Given the description of an element on the screen output the (x, y) to click on. 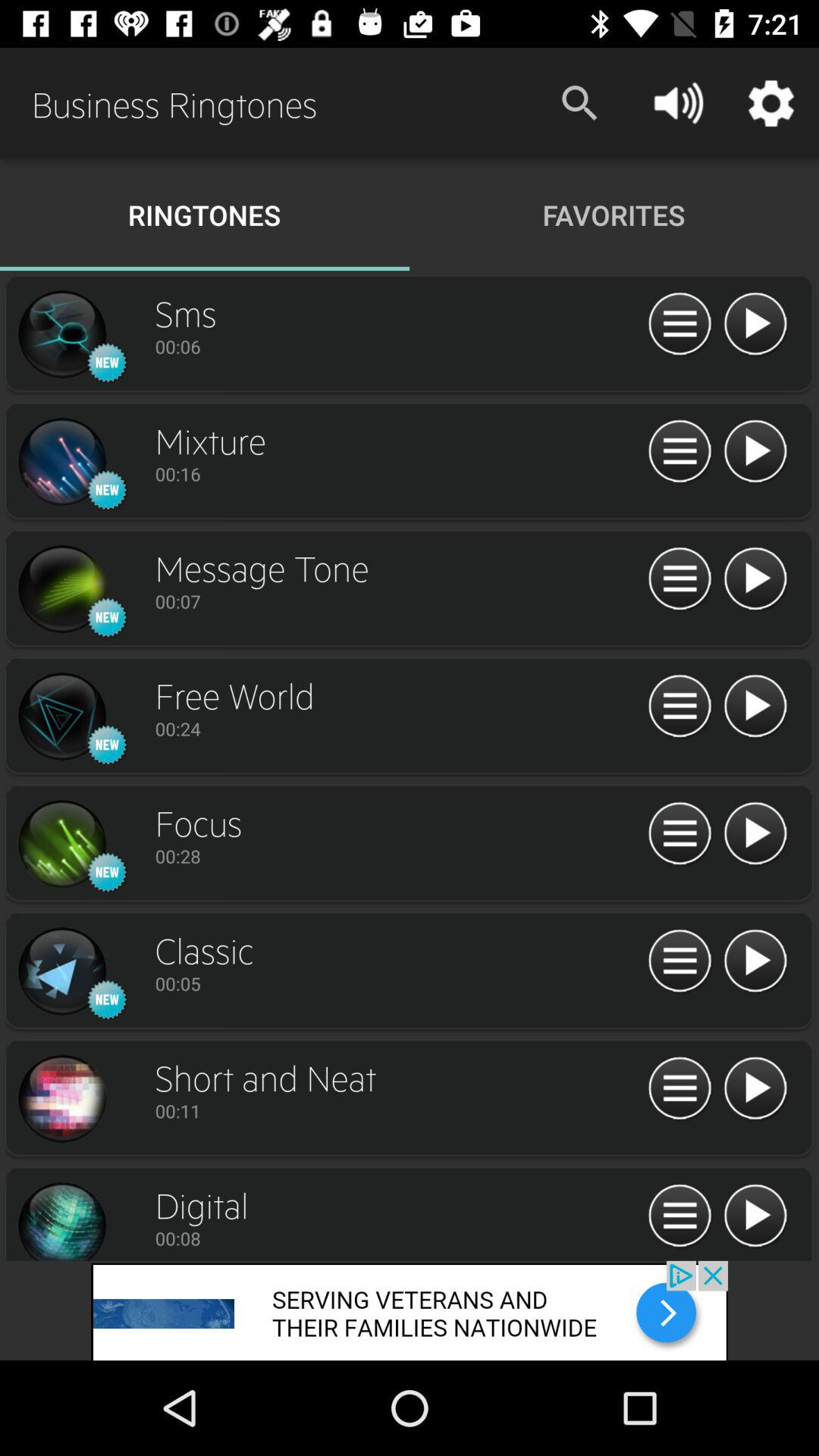
toggle the record option (61, 716)
